Given the description of an element on the screen output the (x, y) to click on. 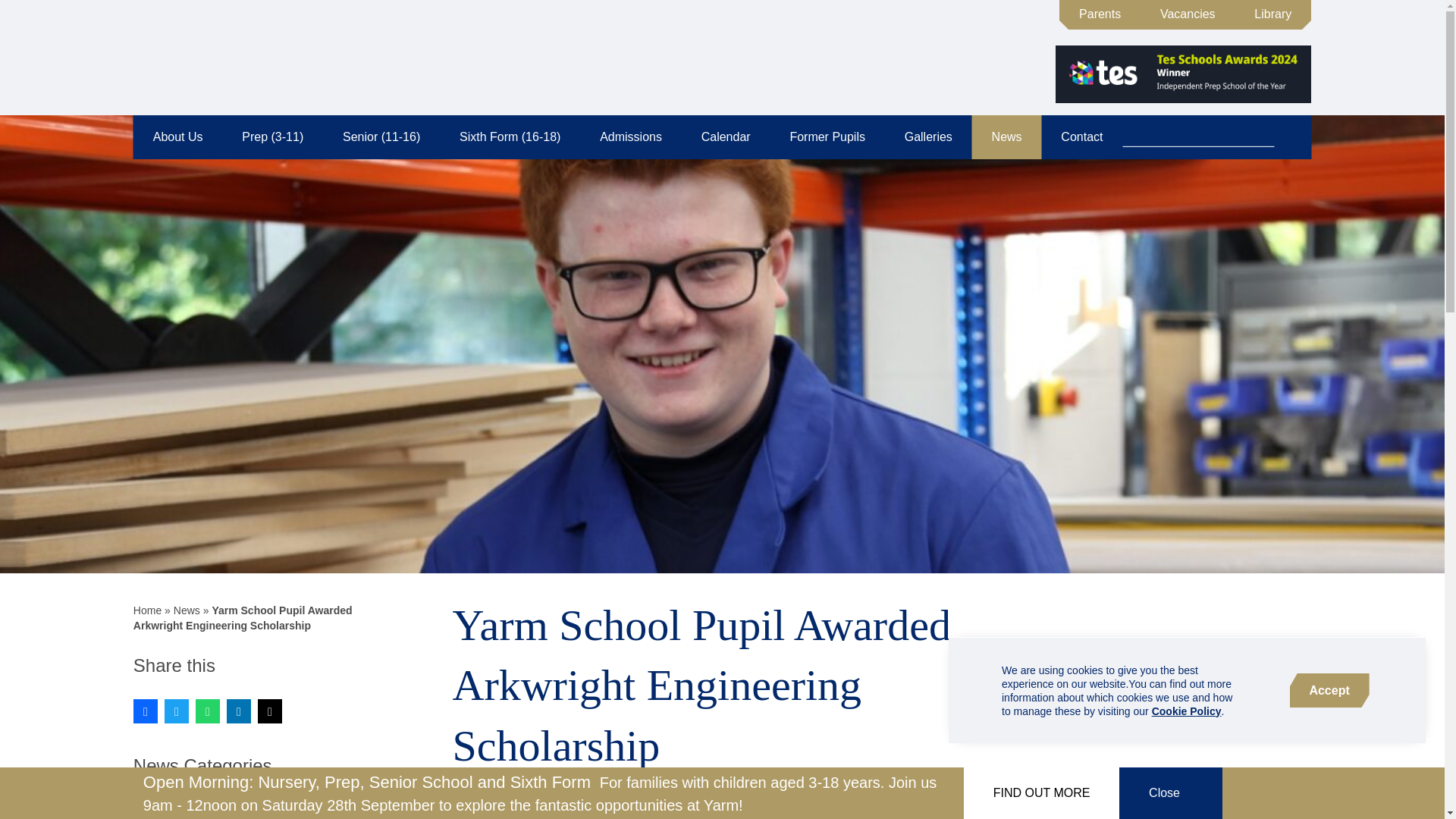
Email (269, 711)
Twitter (176, 711)
Library (1272, 14)
WhatsApp (207, 711)
Facebook (145, 711)
Go to Yarm School Home (204, 56)
Parents (1099, 14)
Vacancies (1187, 14)
LinkedIn (238, 711)
